Given the description of an element on the screen output the (x, y) to click on. 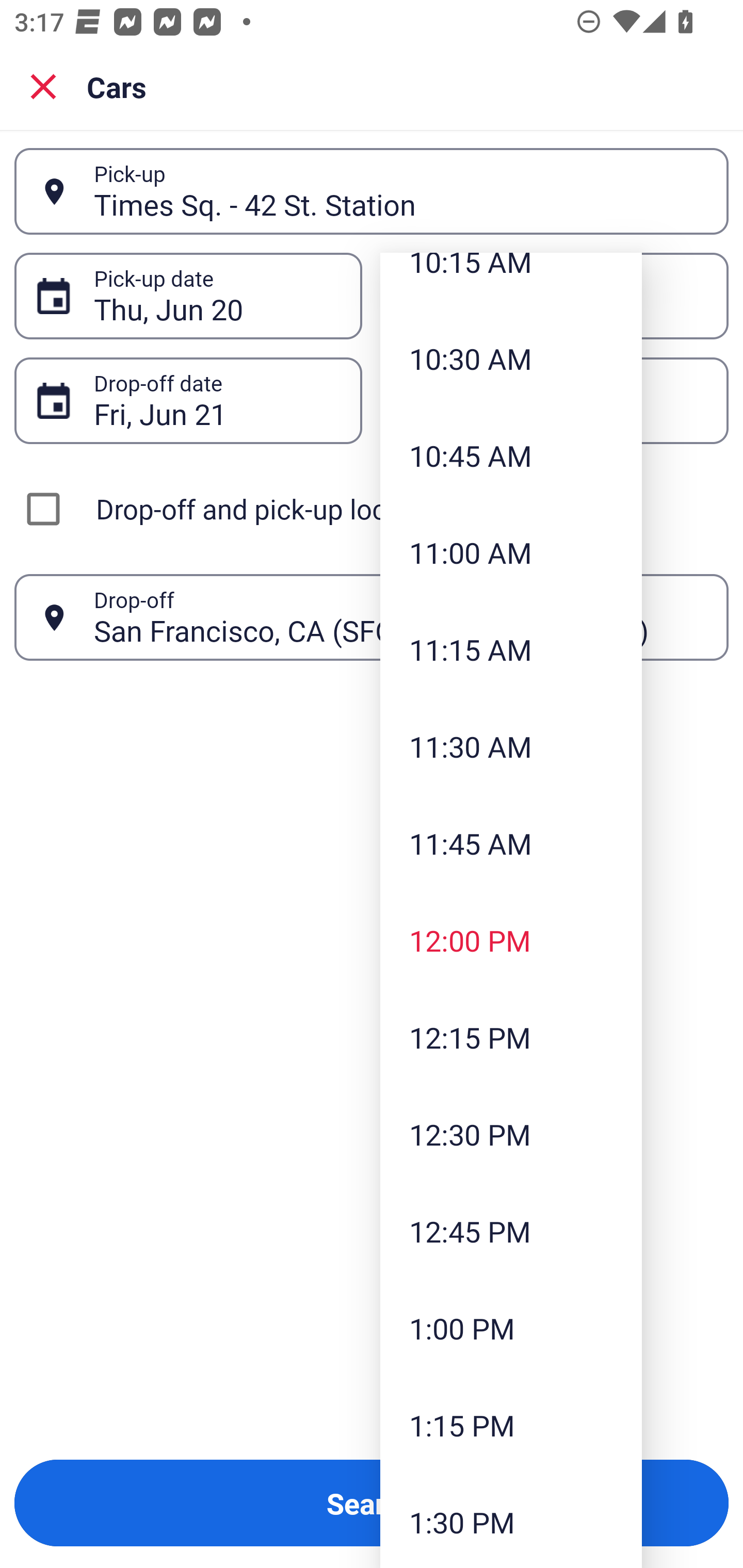
10:15 AM (510, 281)
10:30 AM (510, 358)
10:45 AM (510, 455)
11:00 AM (510, 551)
11:15 AM (510, 648)
11:30 AM (510, 745)
11:45 AM (510, 843)
12:00 PM (510, 940)
12:15 PM (510, 1037)
12:30 PM (510, 1133)
12:45 PM (510, 1230)
1:00 PM (510, 1327)
1:15 PM (510, 1424)
1:30 PM (510, 1520)
